Given the description of an element on the screen output the (x, y) to click on. 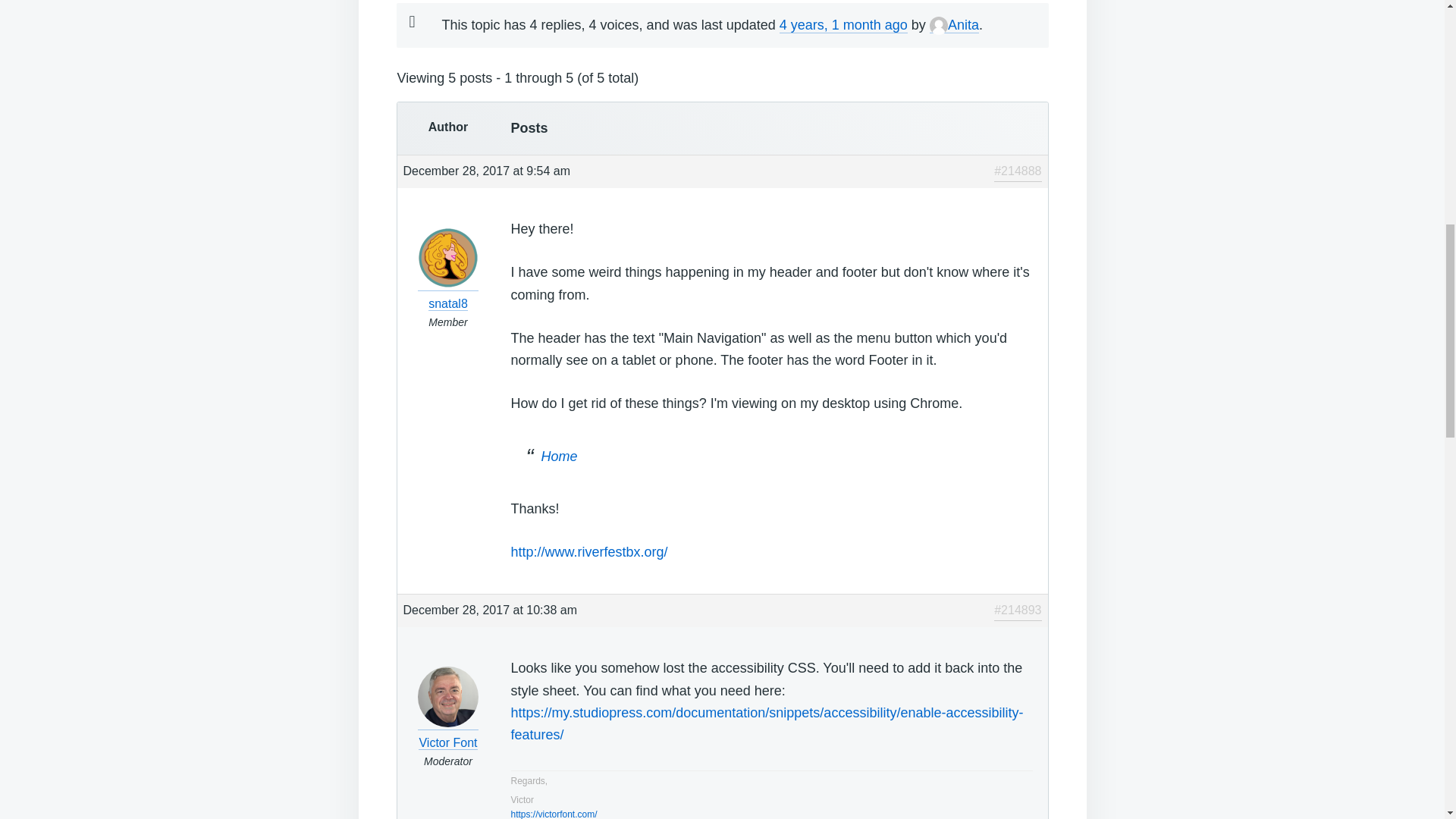
Home (559, 456)
snatal8 (448, 294)
4 years, 1 month ago (842, 25)
View snatal8's profile (448, 294)
Anita (954, 25)
View Victor Font's profile (448, 733)
View Anita's profile (954, 25)
